Given the description of an element on the screen output the (x, y) to click on. 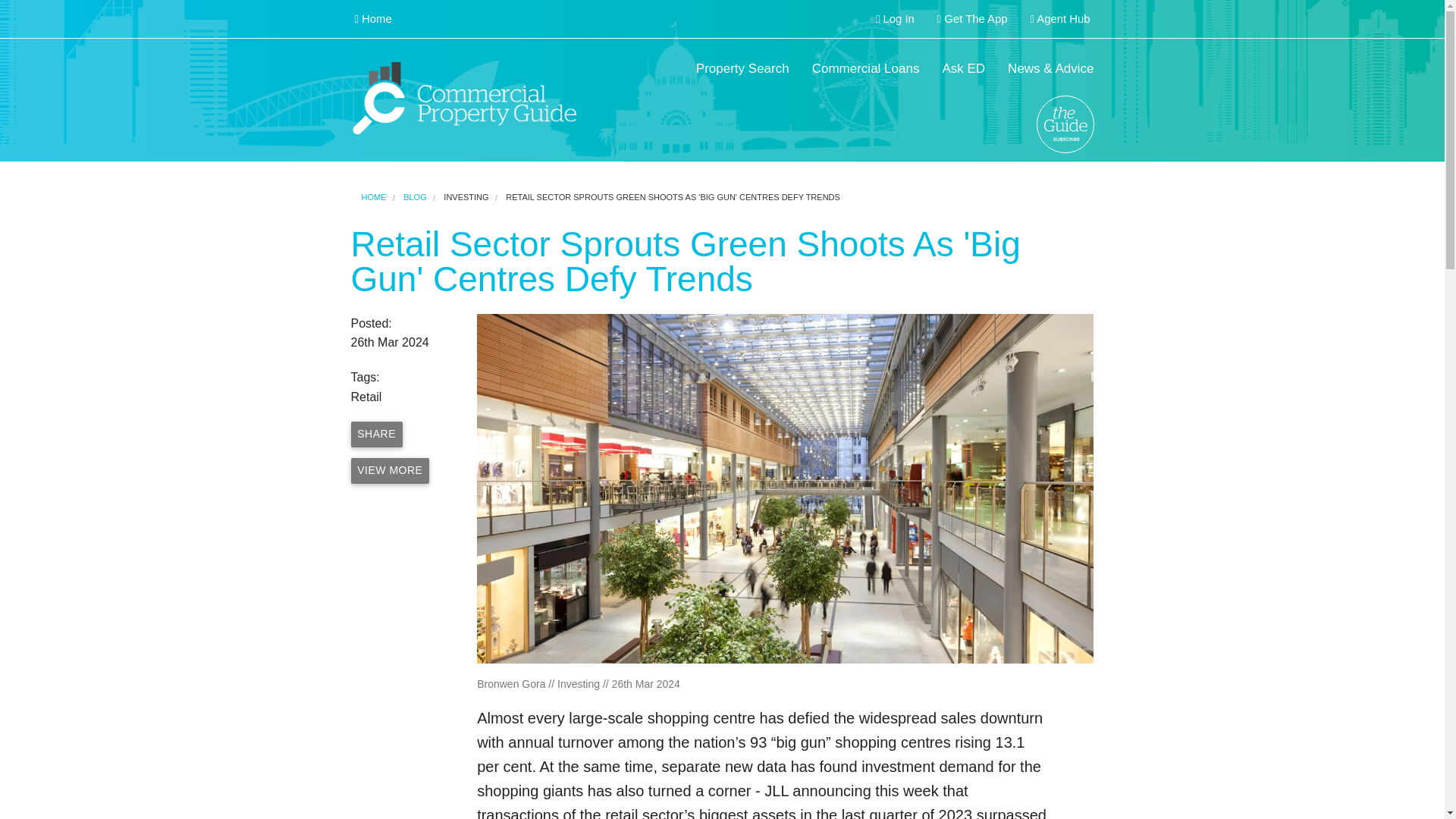
Home (372, 19)
Agent Hub (1060, 19)
BLOG (414, 196)
SHARE (376, 434)
Log In (895, 19)
VIEW MORE (389, 470)
Property Search (742, 69)
Get The App (972, 19)
Ask ED (962, 69)
HOME (373, 196)
